Given the description of an element on the screen output the (x, y) to click on. 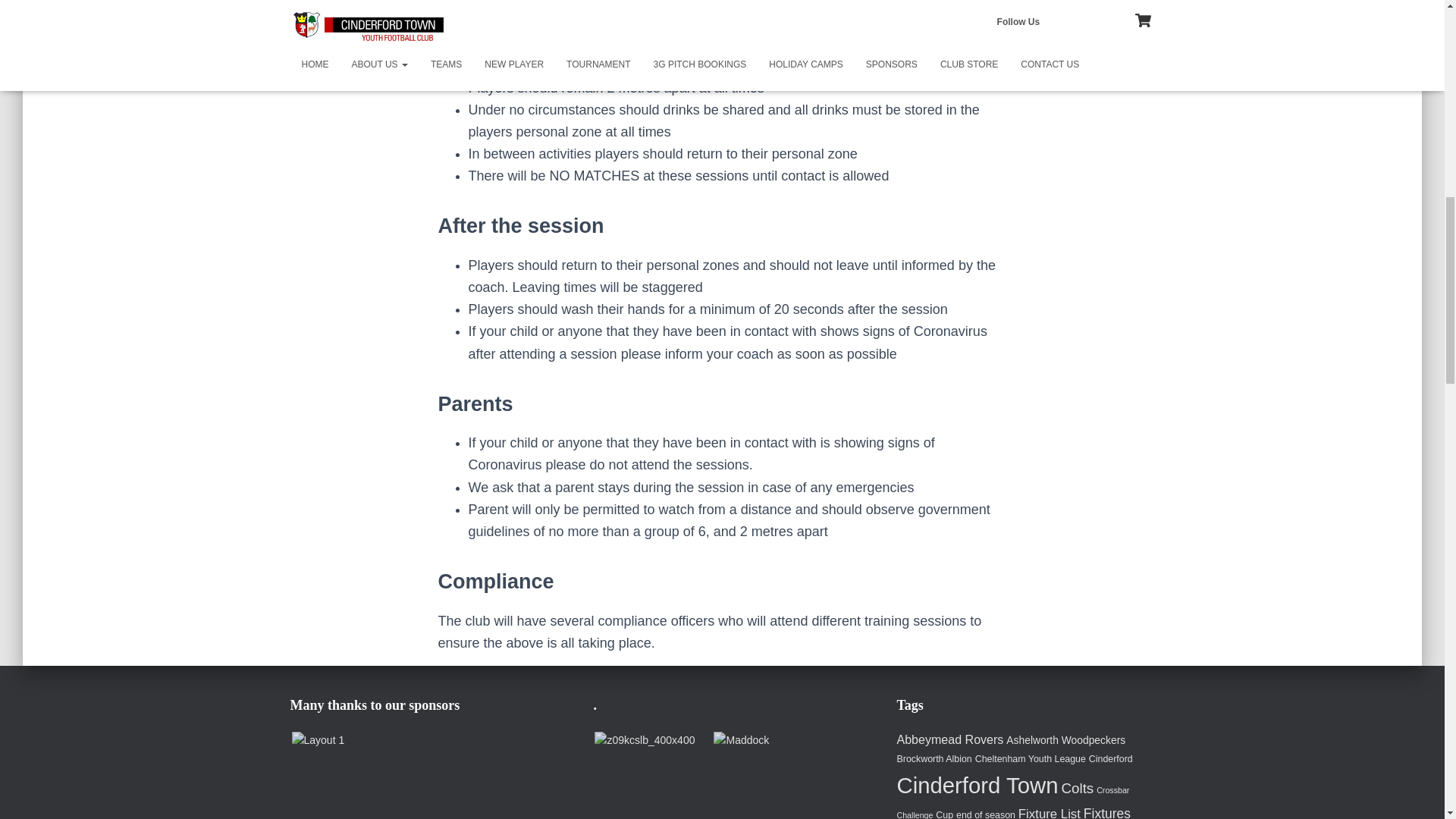
Layout 1 (317, 740)
